Given the description of an element on the screen output the (x, y) to click on. 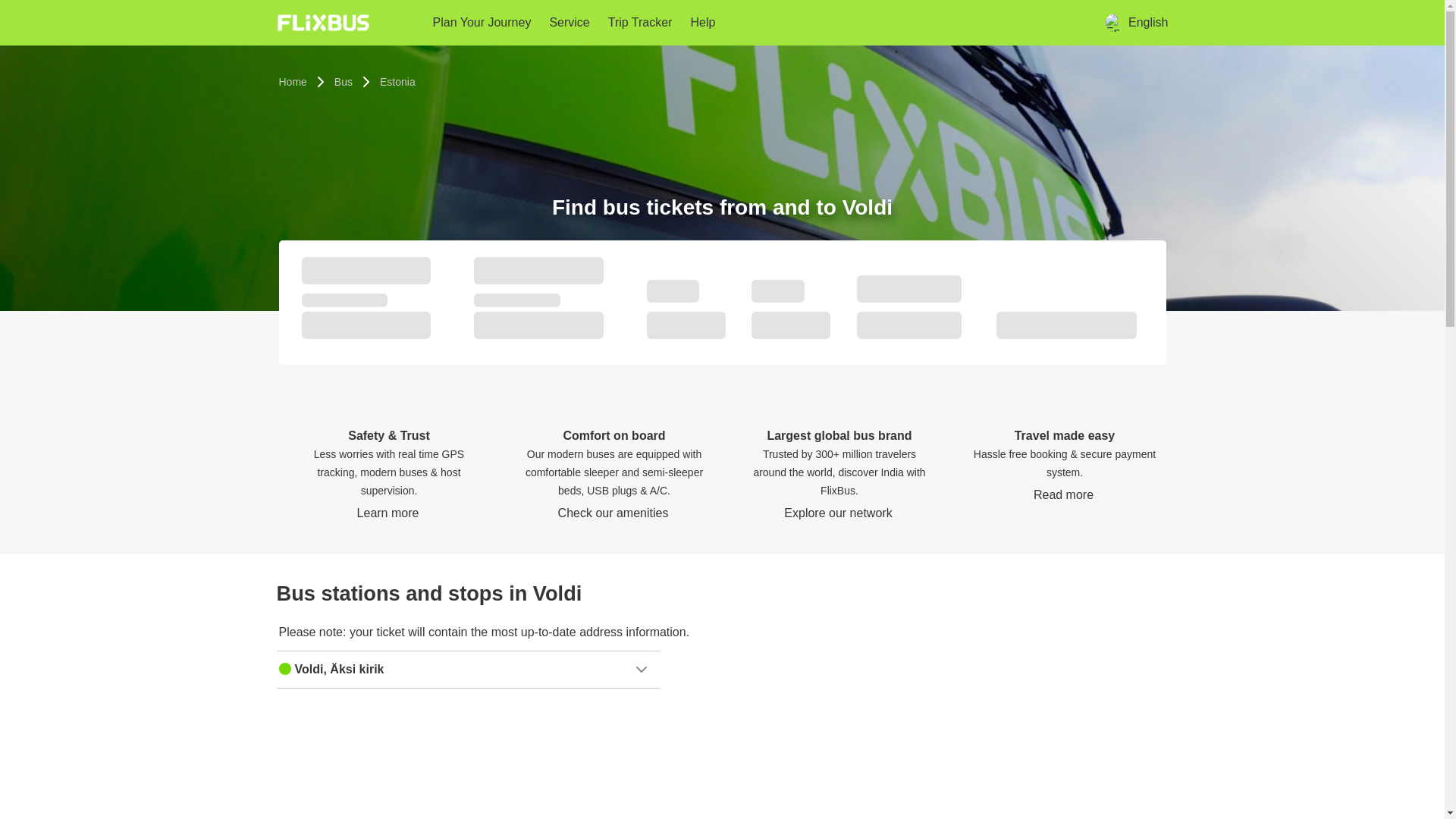
Zoom in (1149, 669)
Service (595, 22)
Home (292, 81)
Check our amenities (614, 513)
Explore our network (839, 513)
Learn more (389, 513)
Trip Tracker (675, 22)
Bus (343, 81)
Help (738, 22)
Read more (1064, 494)
